Given the description of an element on the screen output the (x, y) to click on. 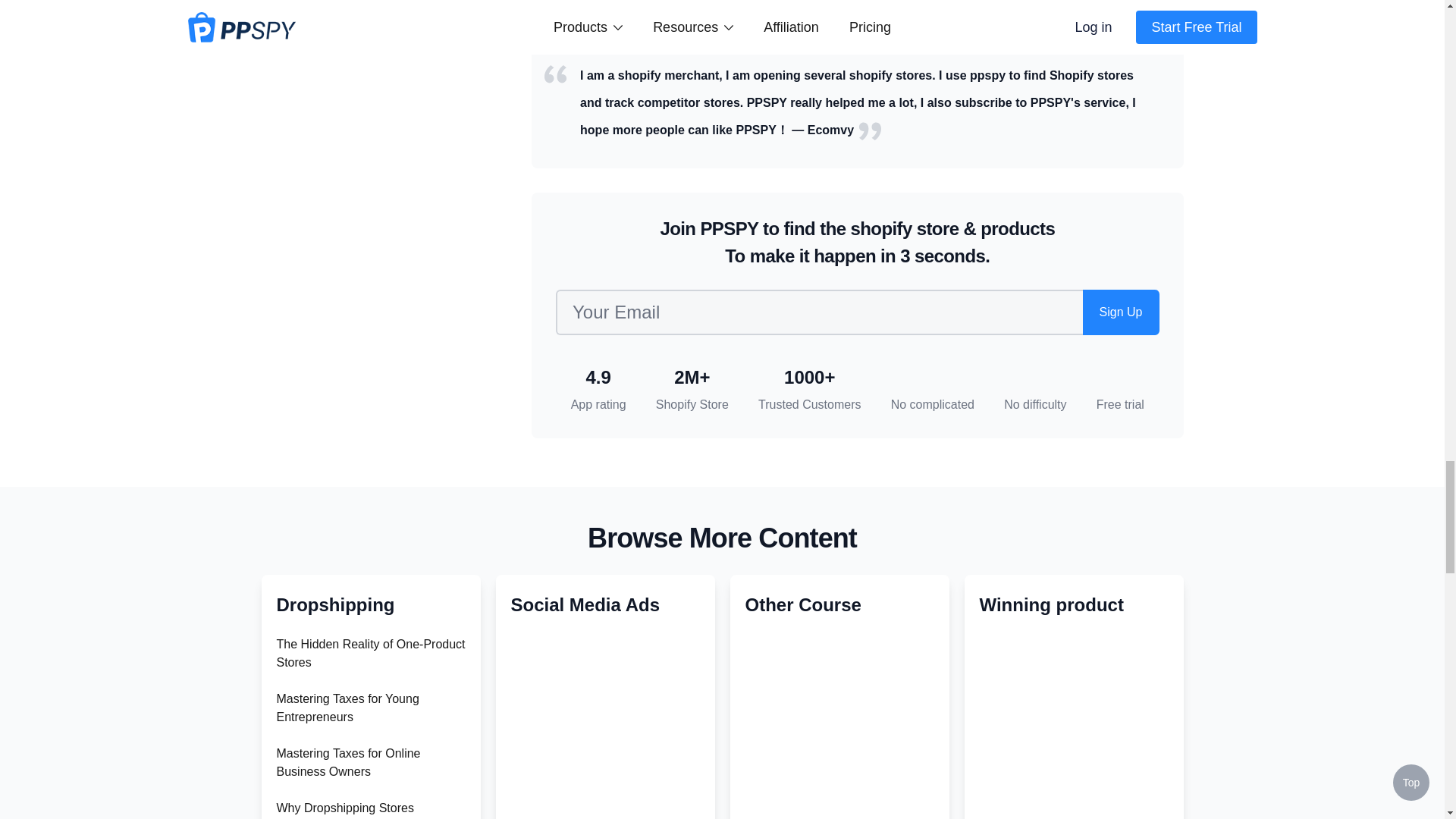
Mastering Taxes for Young Entrepreneurs (347, 707)
The Hidden Reality of One-Product Stores (370, 653)
Mastering Taxes for Online Business Owners (348, 762)
